Given the description of an element on the screen output the (x, y) to click on. 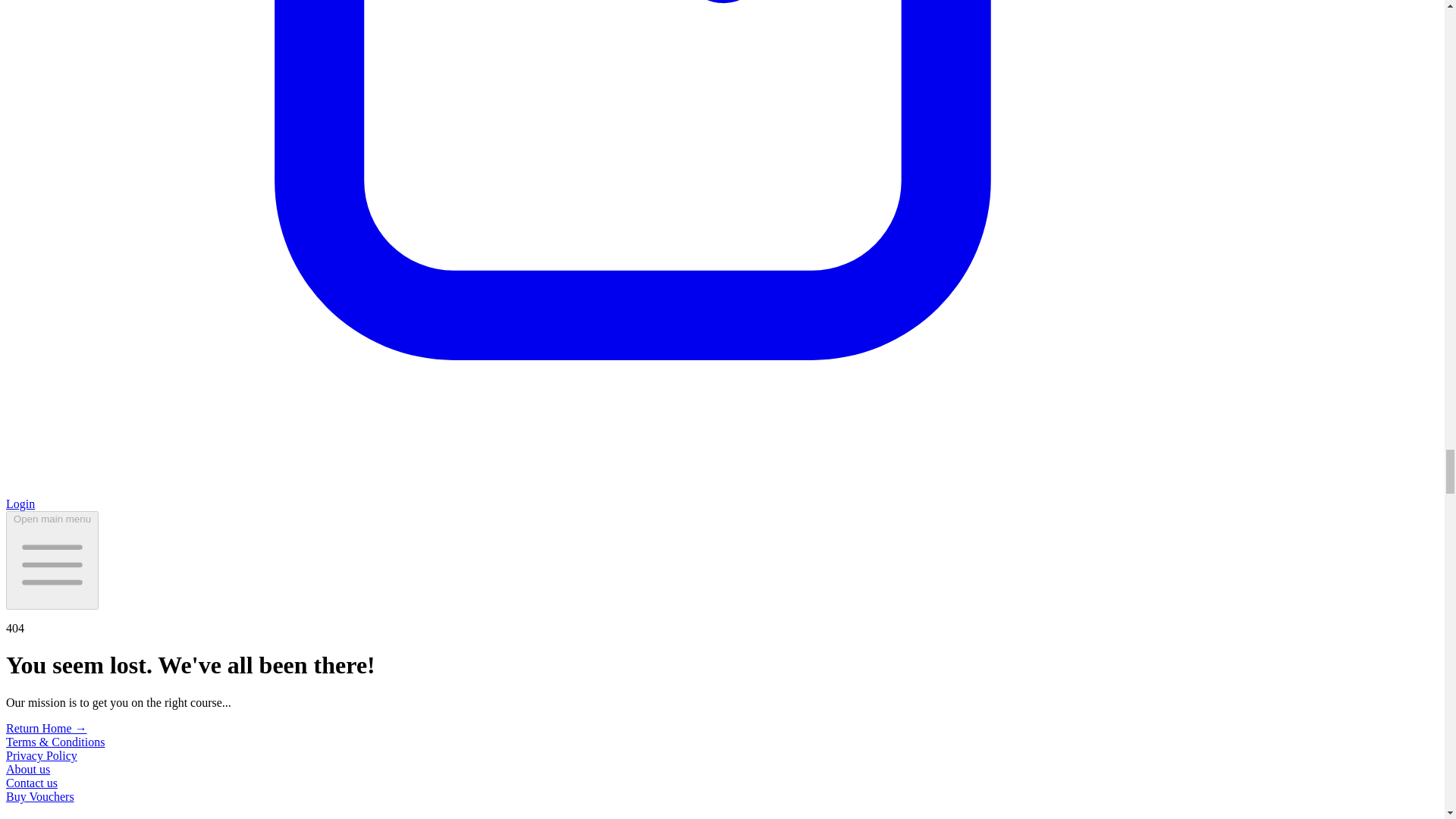
Contact us (31, 782)
Privacy Policy (41, 755)
About us (27, 768)
Open main menu (52, 560)
Buy Vouchers (39, 796)
